Given the description of an element on the screen output the (x, y) to click on. 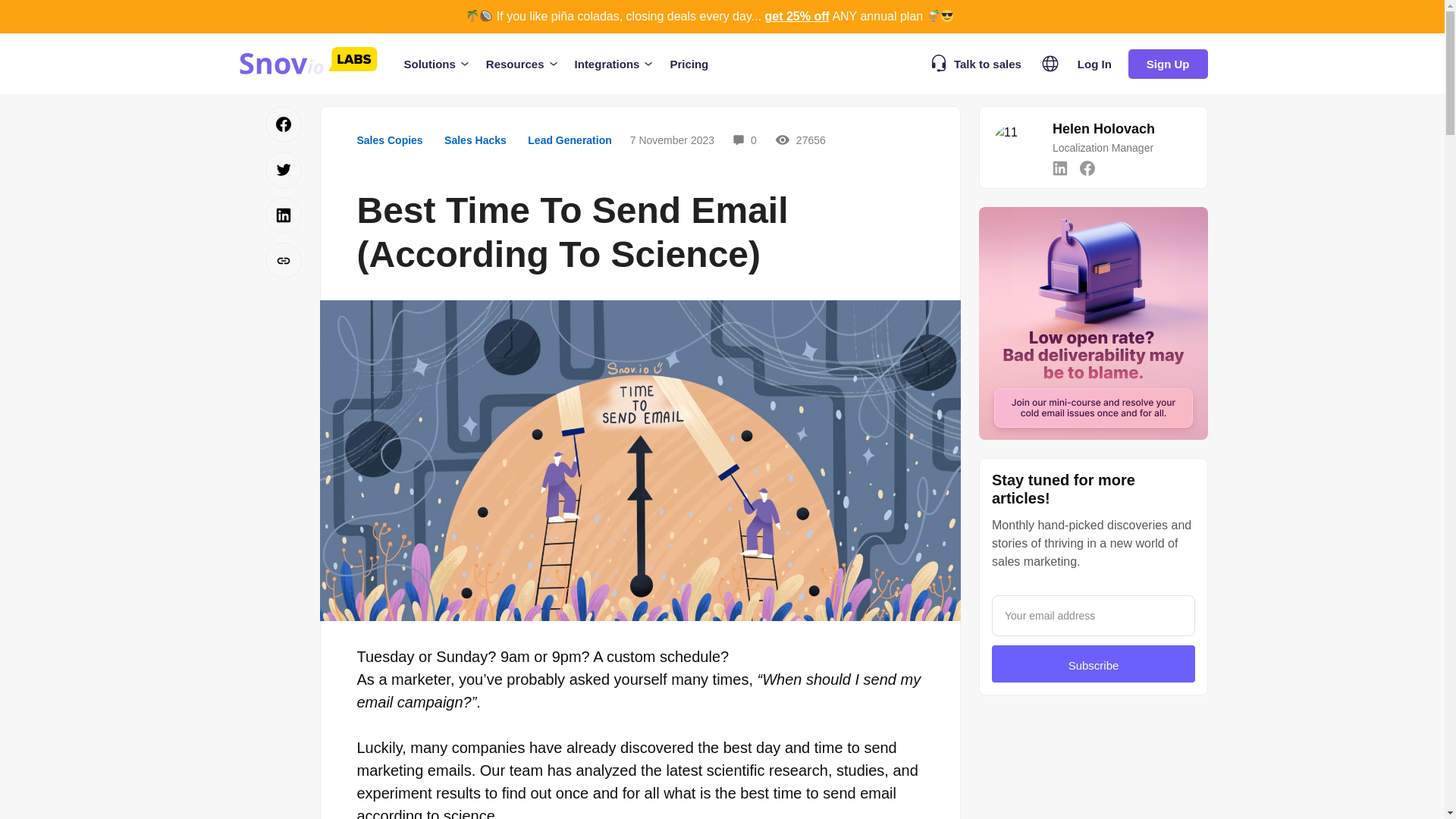
Subscribe (1093, 663)
Log In (1094, 62)
Talk to sales (976, 63)
Sales Copies (389, 140)
Posts by Helen Holovach (1103, 128)
Sign Up (1168, 62)
Pricing (689, 63)
